Given the description of an element on the screen output the (x, y) to click on. 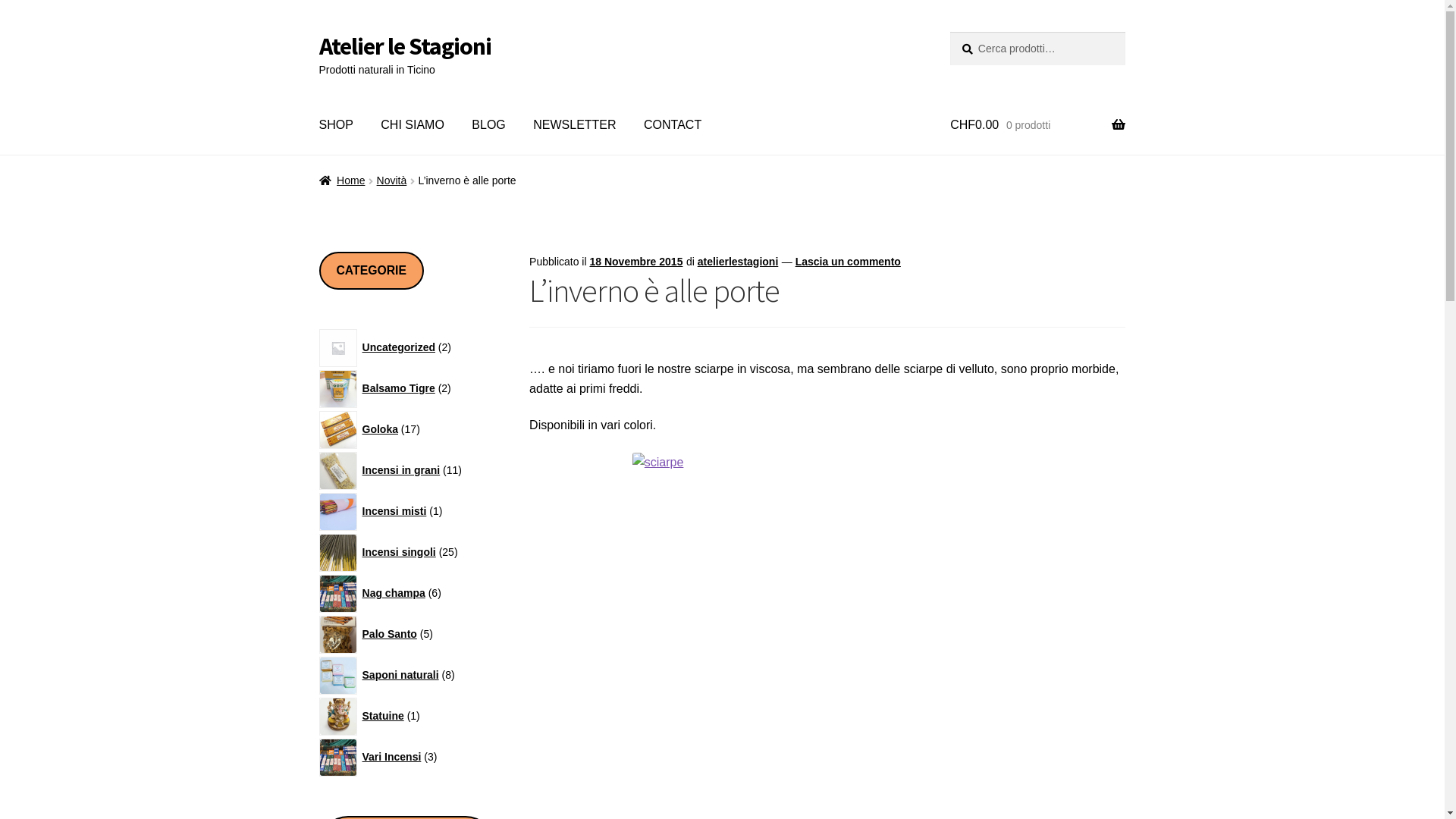
CHI SIAMO Element type: text (412, 124)
Statuine Element type: text (384, 715)
SHOP Element type: text (336, 124)
Balsamo Tigre Element type: text (399, 388)
Vai alla navigazione Element type: text (318, 31)
Nag champa Element type: text (394, 592)
NEWSLETTER Element type: text (573, 124)
Cerca Element type: text (949, 31)
Home Element type: text (342, 180)
CATEGORIE Element type: text (371, 270)
atelierlestagioni Element type: text (737, 261)
Vari Incensi Element type: text (392, 756)
18 Novembre 2015 Element type: text (635, 261)
Uncategorized Element type: text (399, 347)
Atelier le Stagioni Element type: text (405, 46)
Lascia un commento Element type: text (847, 261)
BLOG Element type: text (488, 124)
Incensi misti Element type: text (395, 511)
Saponi naturali Element type: text (401, 674)
Palo Santo Element type: text (390, 633)
Goloka Element type: text (381, 429)
CHF0.00 0 prodotti Element type: text (1037, 124)
Incensi singoli Element type: text (400, 552)
Incensi in grani Element type: text (402, 470)
CONTACT Element type: text (672, 124)
